Given the description of an element on the screen output the (x, y) to click on. 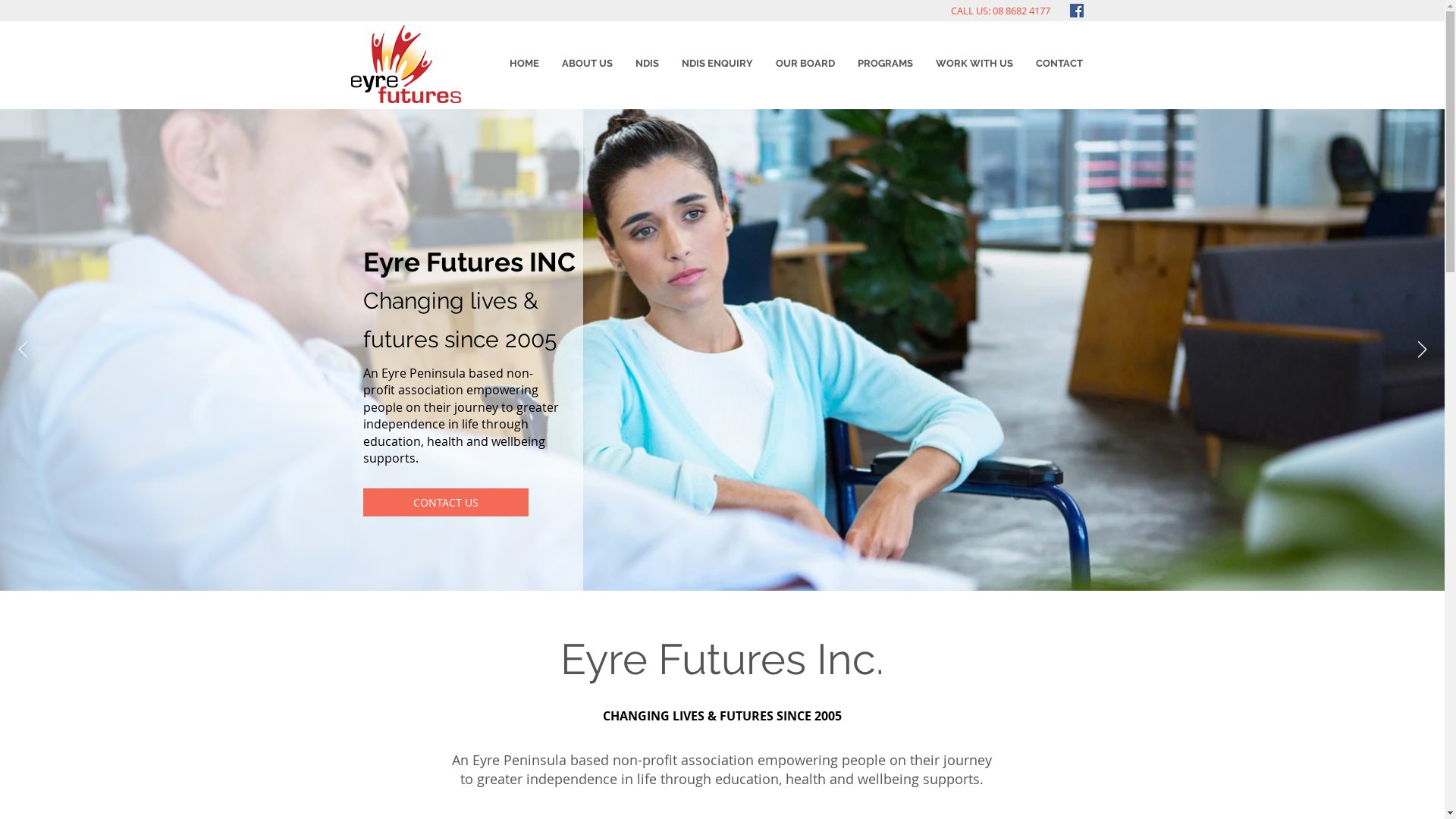
NDIS Element type: text (646, 63)
PROGRAMS Element type: text (885, 63)
CONTACT Element type: text (1058, 63)
OUR BOARD Element type: text (805, 63)
WORK WITH US Element type: text (973, 63)
NDIS ENQUIRY Element type: text (717, 63)
CONTACT US Element type: text (444, 502)
ABOUT US Element type: text (587, 63)
HOME Element type: text (523, 63)
